Given the description of an element on the screen output the (x, y) to click on. 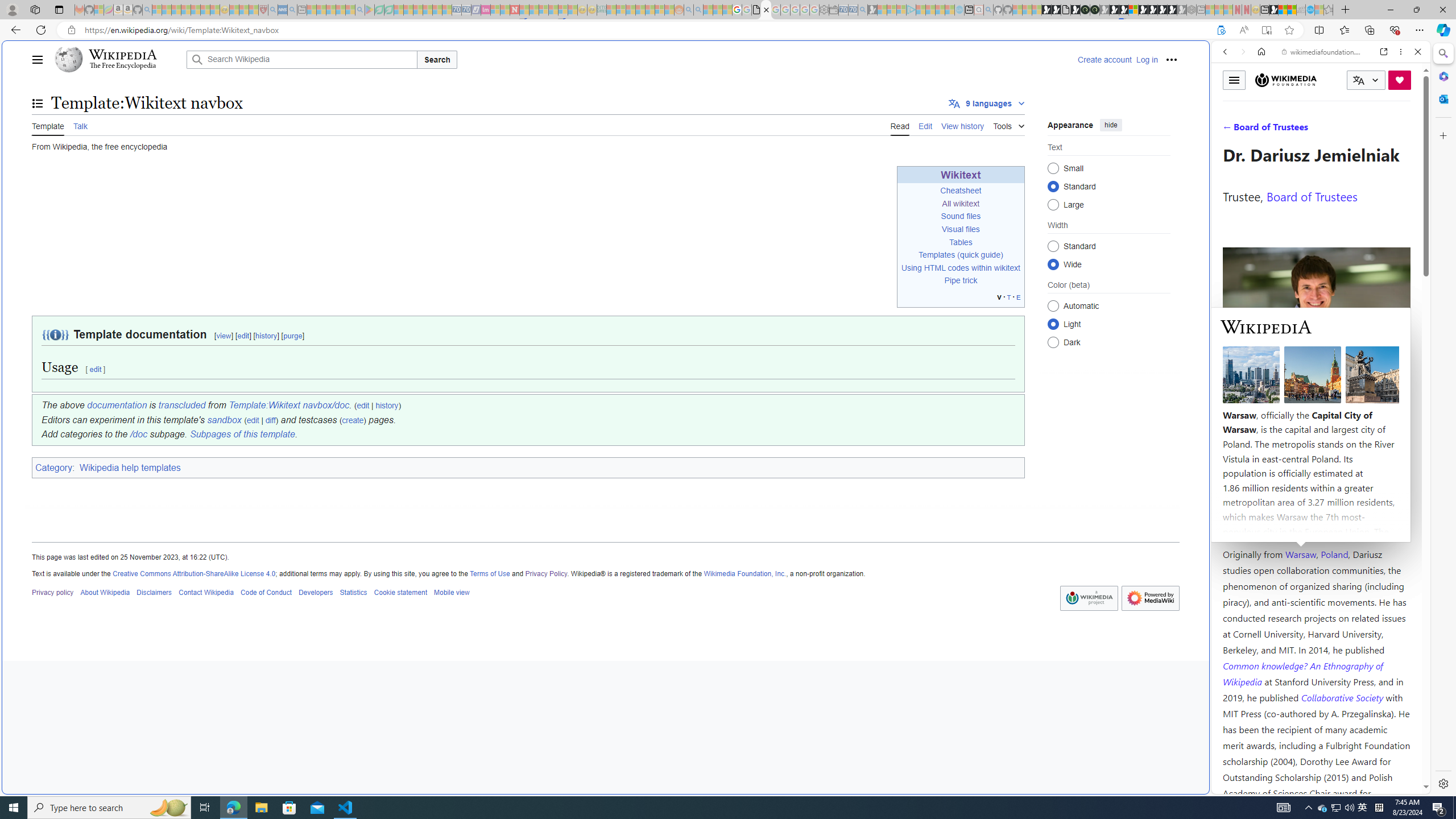
Poland (1334, 554)
Log in (1146, 58)
Contact Wikipedia (206, 591)
Read (899, 124)
Mobile view (451, 591)
Category (53, 467)
Read (899, 124)
edit (252, 420)
Tables (960, 241)
Wikitext (960, 174)
